Given the description of an element on the screen output the (x, y) to click on. 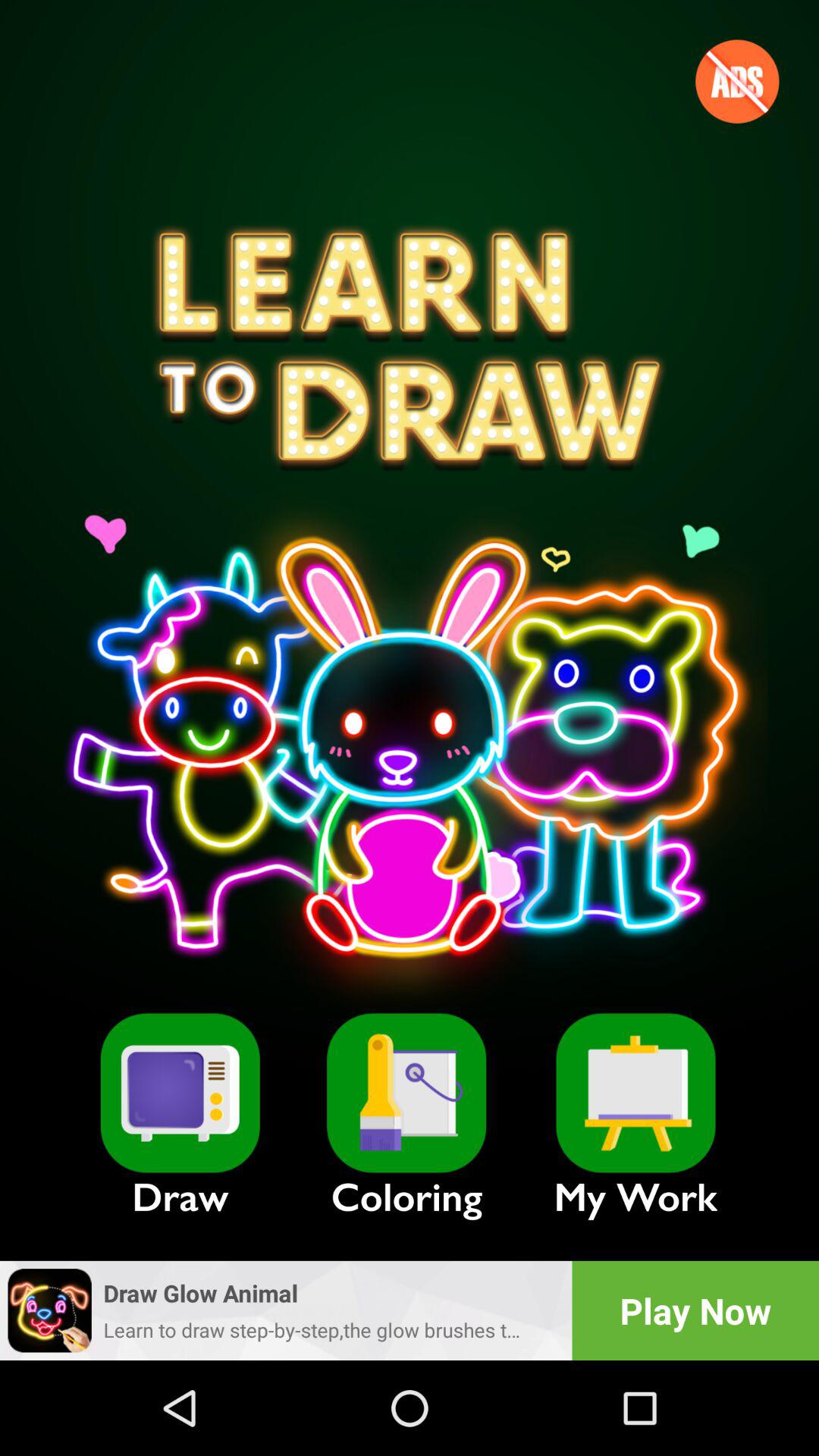
click the icon next to the my work item (406, 1092)
